Given the description of an element on the screen output the (x, y) to click on. 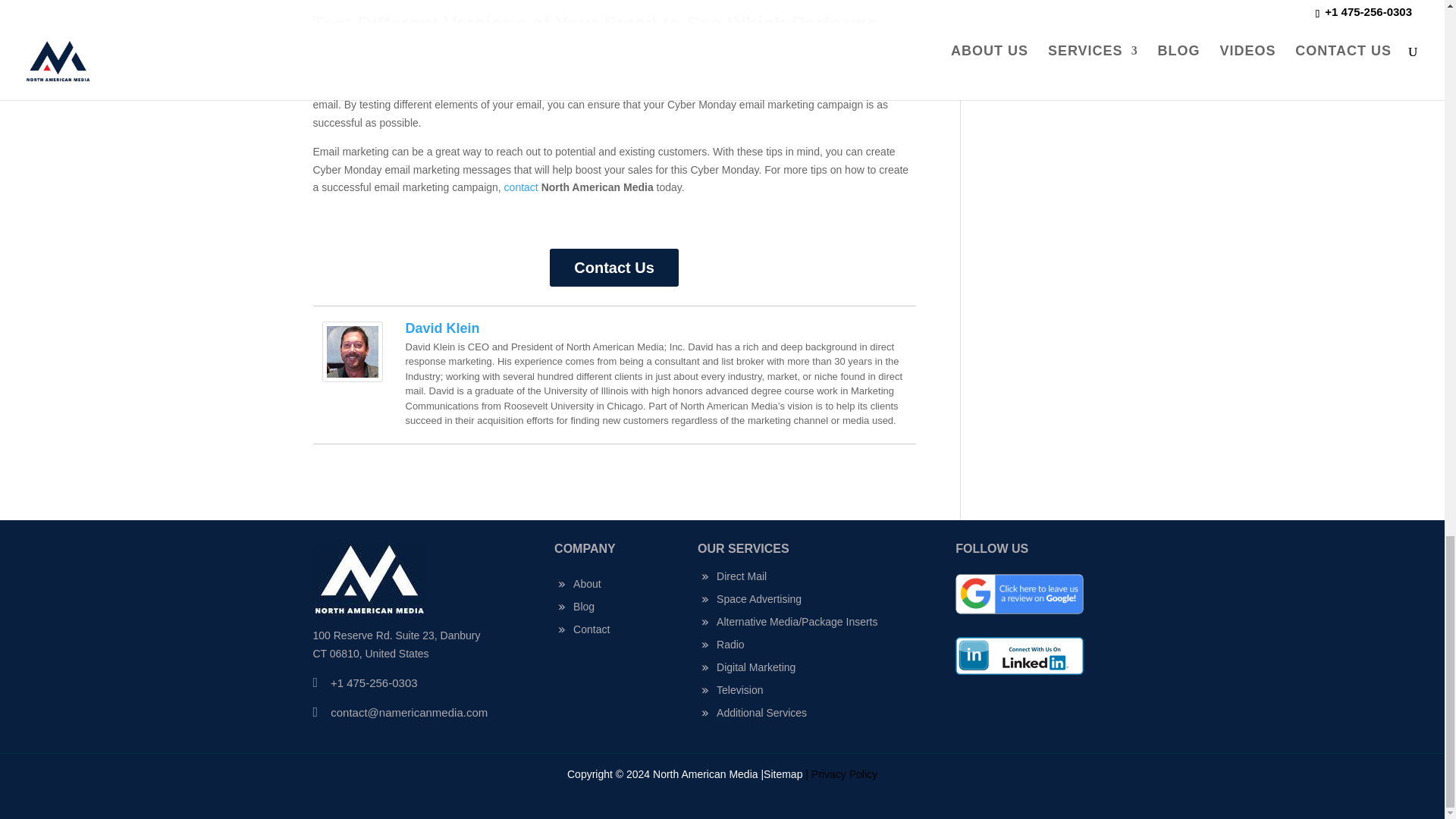
David Klein (441, 328)
Privacy Policy  (843, 774)
linkedin-button (1019, 655)
footer-logo (369, 578)
google-review-btn-new (1019, 594)
Contact Us (614, 267)
David Klein (351, 372)
contact (520, 186)
